Given the description of an element on the screen output the (x, y) to click on. 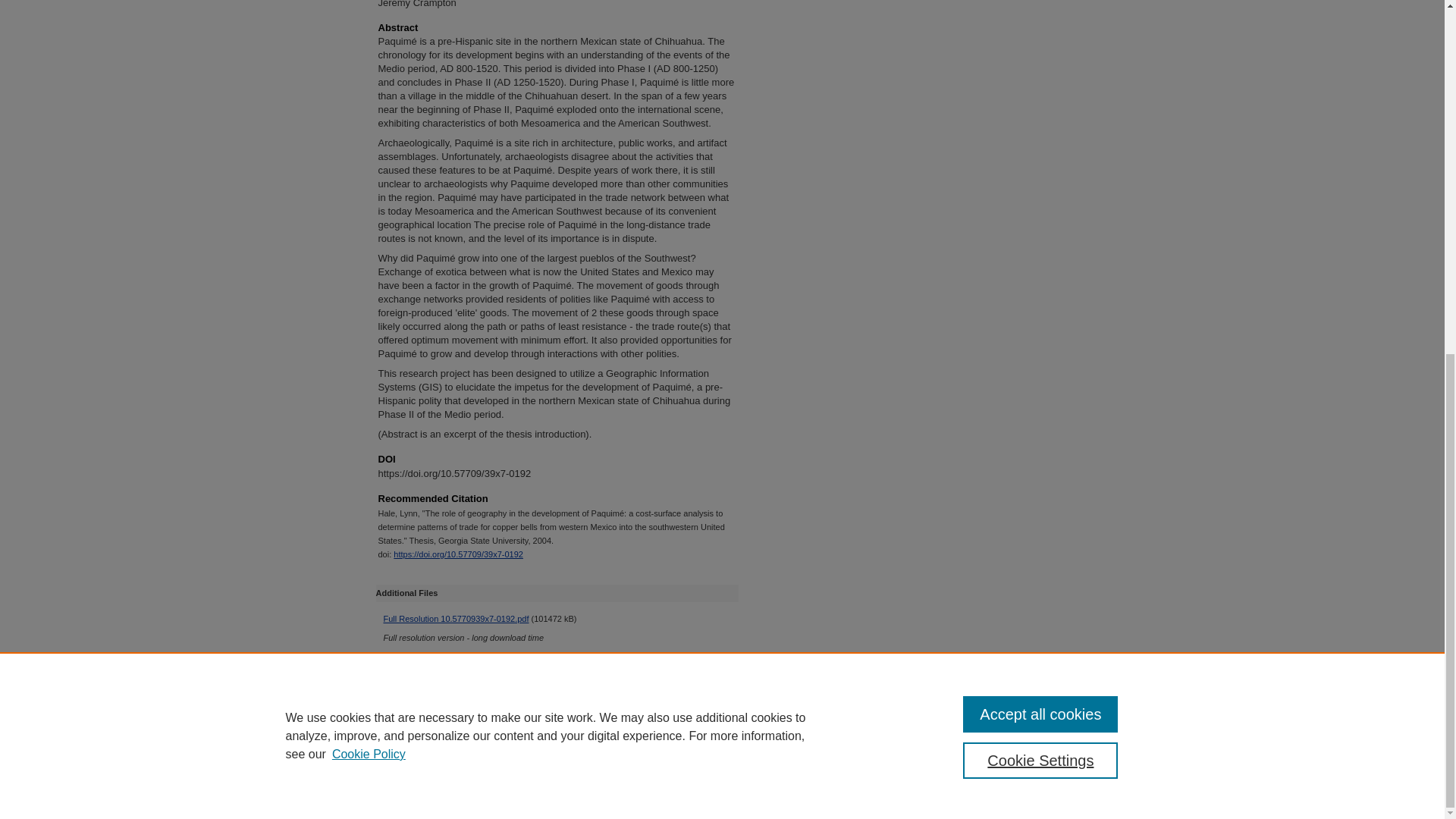
Full Resolution 10.5770939x7-0192.pdf (456, 618)
